Given the description of an element on the screen output the (x, y) to click on. 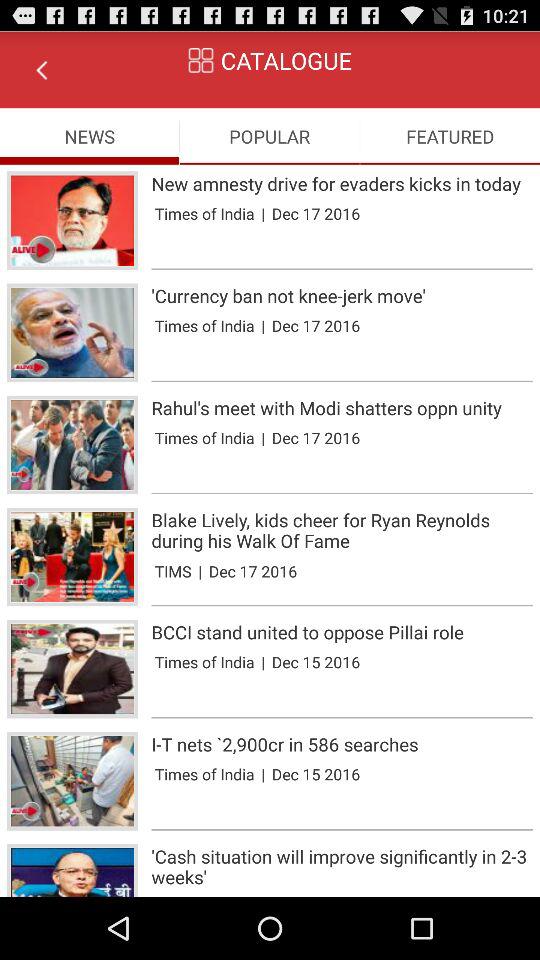
open the icon to the left of the dec 17 2016 app (200, 570)
